Given the description of an element on the screen output the (x, y) to click on. 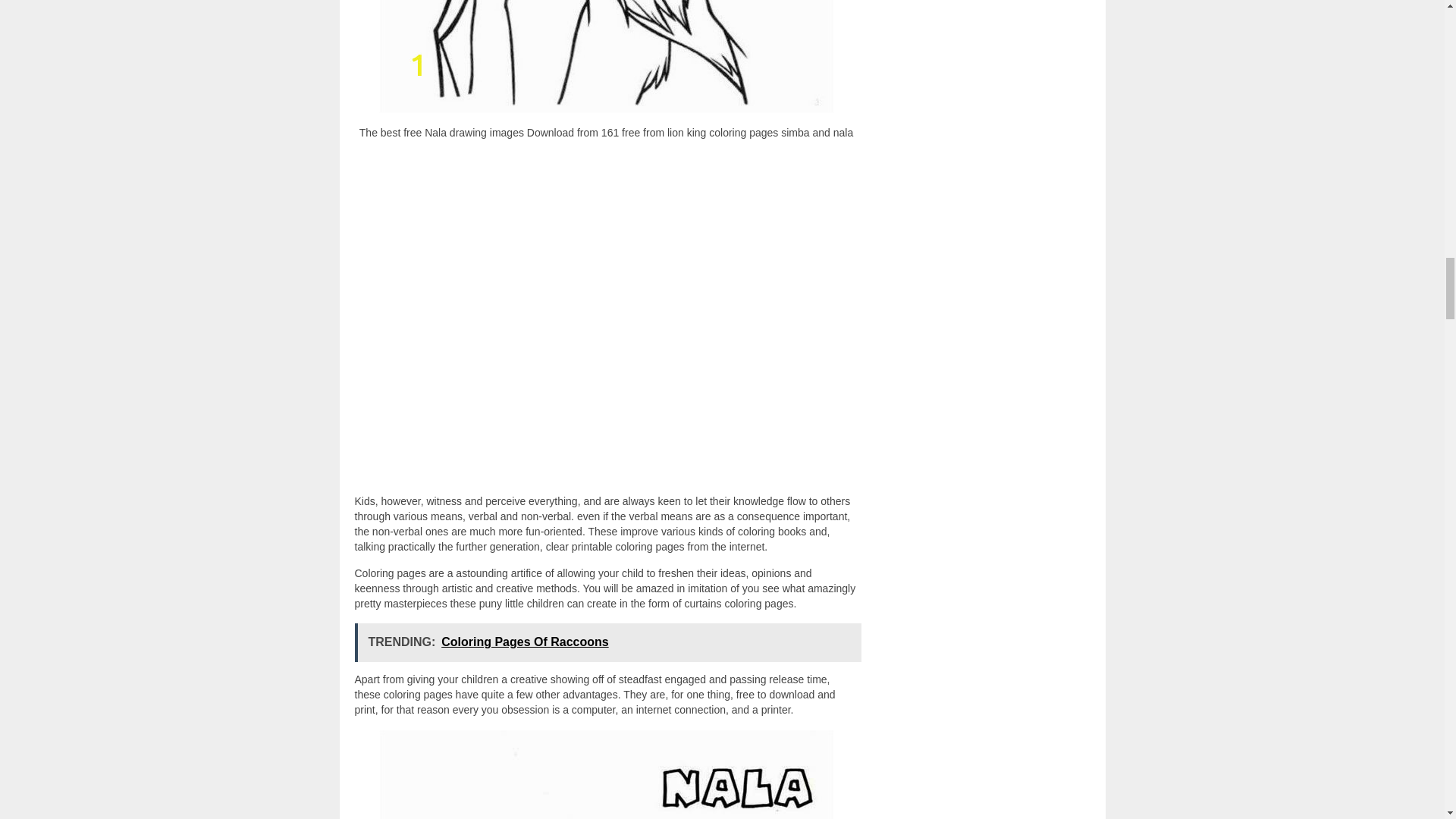
The best free Nala drawing images Download from 161 free (606, 56)
TRENDING:  Coloring Pages Of Raccoons (608, 642)
